Given the description of an element on the screen output the (x, y) to click on. 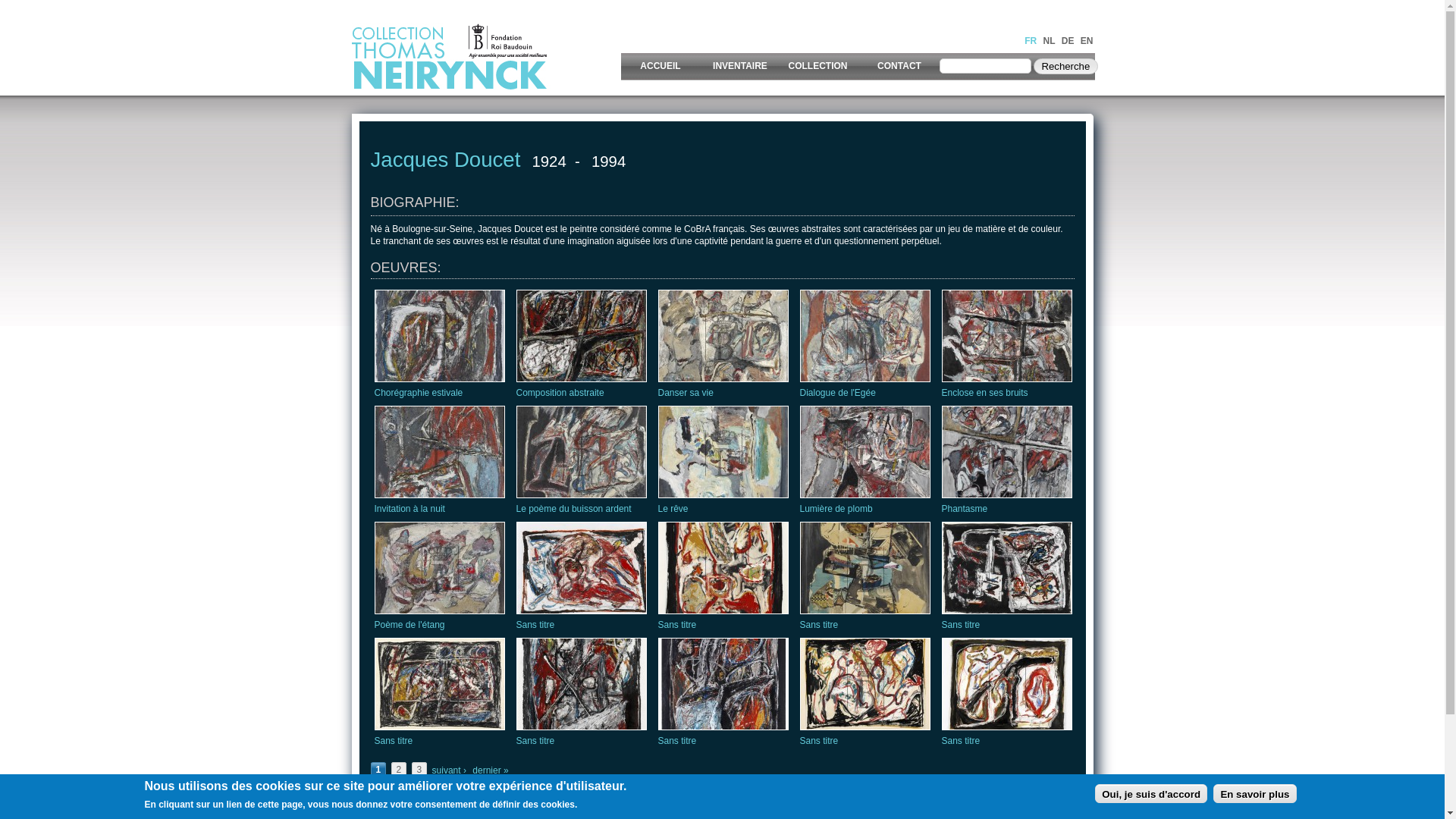
Sans titre Element type: text (960, 624)
FR Element type: text (1030, 40)
3 Element type: text (419, 770)
Sans titre Element type: text (677, 624)
Composition abstraite Element type: text (559, 392)
2 Element type: text (399, 770)
NL Element type: text (1048, 40)
Enclose en ses bruits Element type: text (984, 392)
Oui, je suis d'accord Element type: text (1151, 793)
Sans titre Element type: text (677, 740)
Danser sa vie Element type: text (685, 392)
Sans titre Element type: text (534, 624)
Recherche Element type: text (1065, 66)
INVENTAIRE Element type: text (740, 66)
Sans titre Element type: text (960, 740)
En savoir plus Element type: text (1254, 793)
ACCUEIL Element type: text (659, 66)
Jump to Content Element type: text (33, 7)
Back to homepage Element type: hover (491, 89)
EN Element type: text (1086, 40)
Sans titre Element type: text (393, 740)
Phantasme Element type: text (964, 508)
Sans titre Element type: text (534, 740)
Sans titre Element type: text (818, 624)
DE Element type: text (1067, 40)
COLLECTION Element type: text (819, 66)
Sans titre Element type: text (818, 740)
CONTACT Element type: text (899, 66)
